Given the description of an element on the screen output the (x, y) to click on. 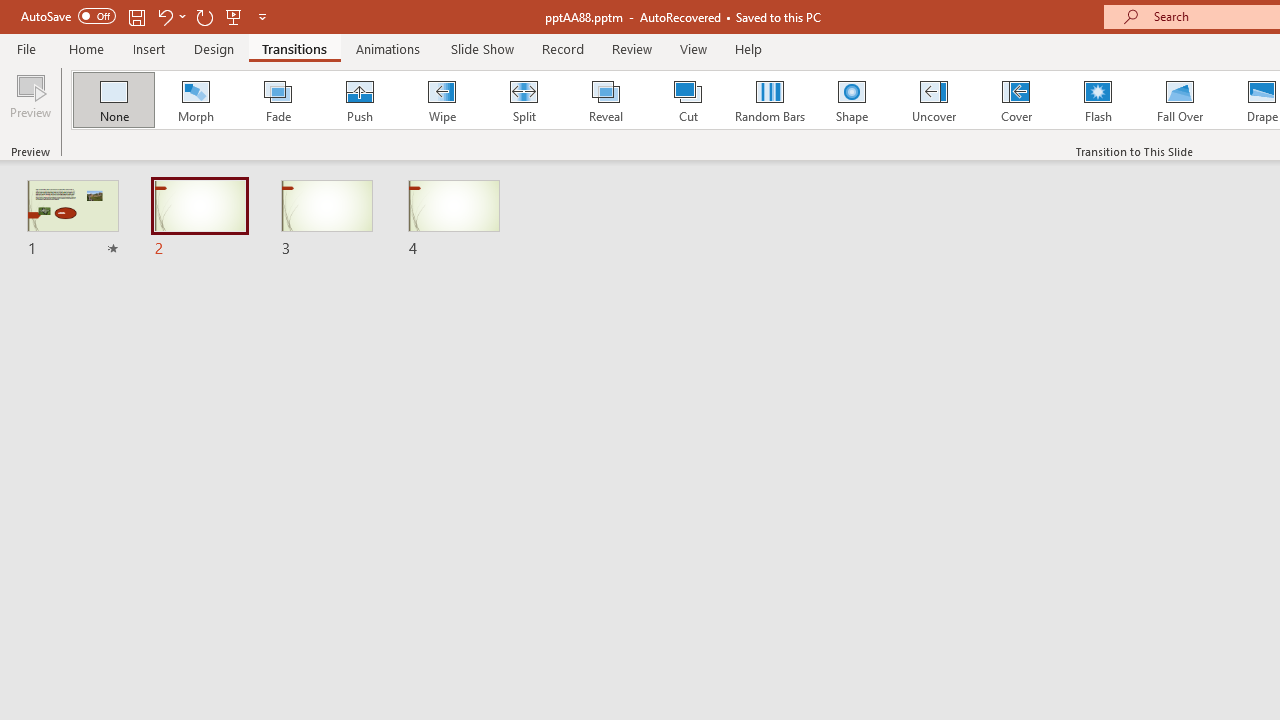
Morph (195, 100)
Wipe (441, 100)
